Given the description of an element on the screen output the (x, y) to click on. 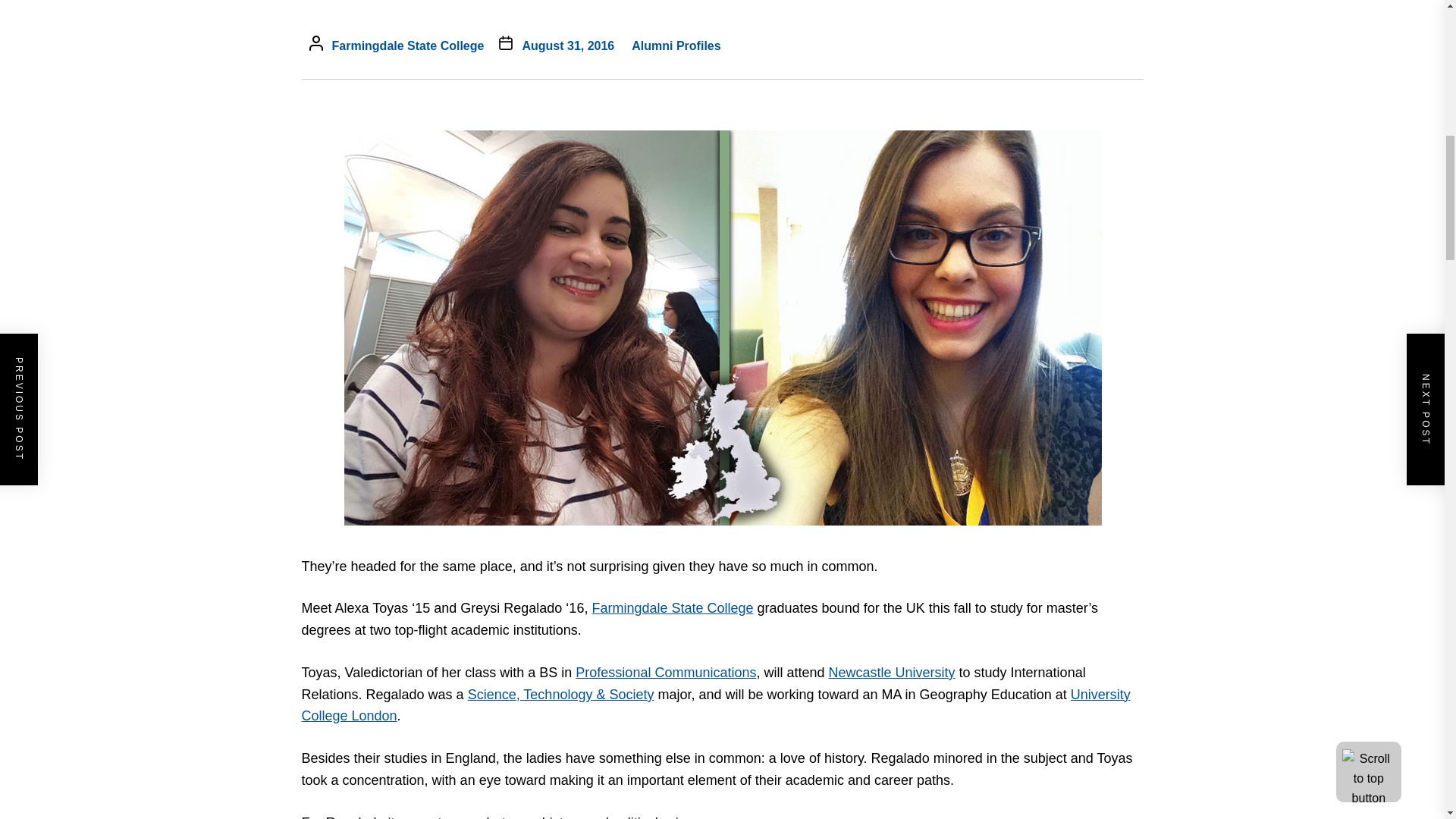
Farmingdale State College (407, 45)
University College London (716, 705)
Newcastle University (891, 672)
Alumni Profiles (675, 45)
August 31, 2016 (567, 45)
Farmingdale State College (671, 607)
Professional Communications (665, 672)
